Given the description of an element on the screen output the (x, y) to click on. 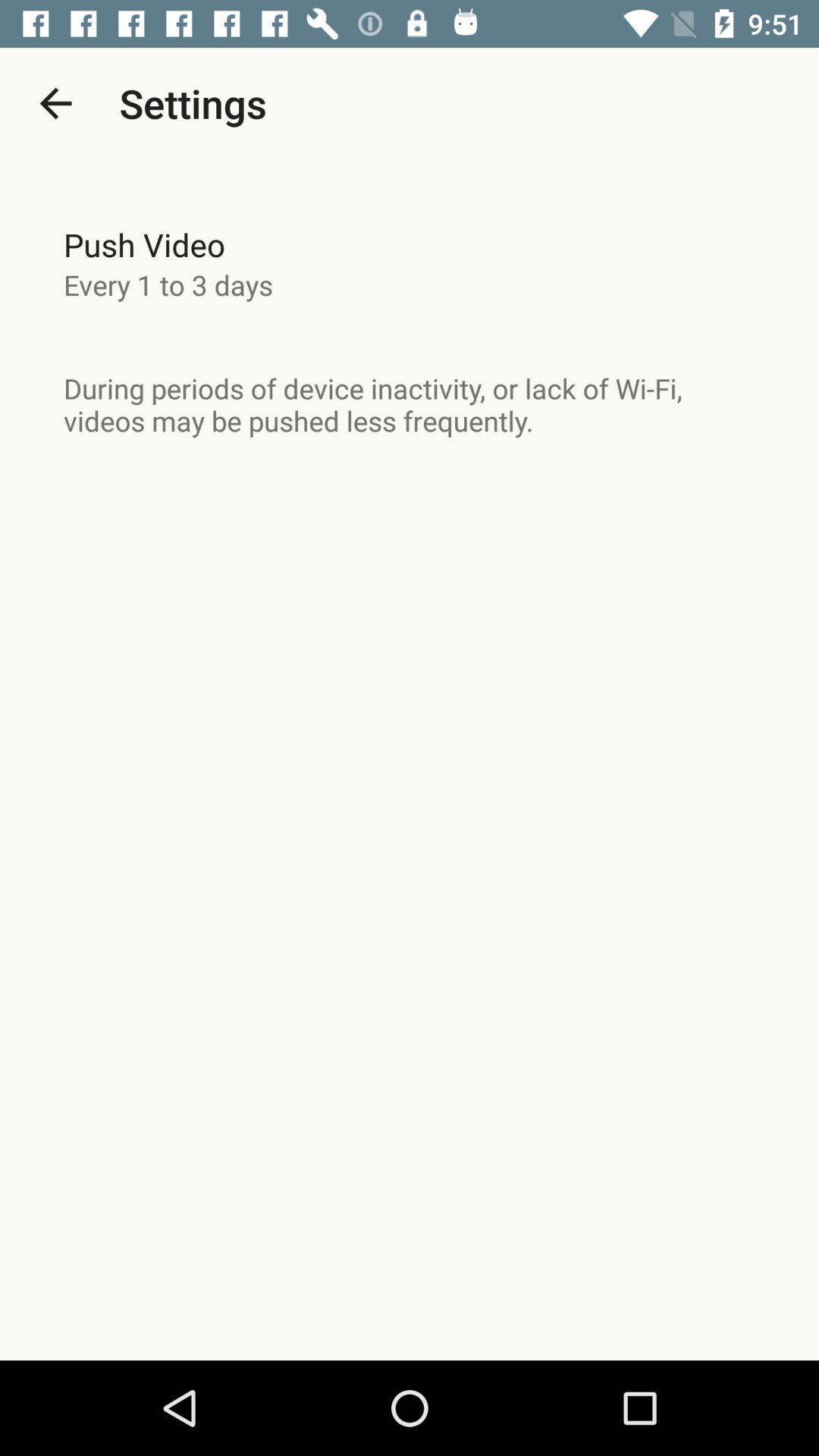
swipe to push video (144, 244)
